Given the description of an element on the screen output the (x, y) to click on. 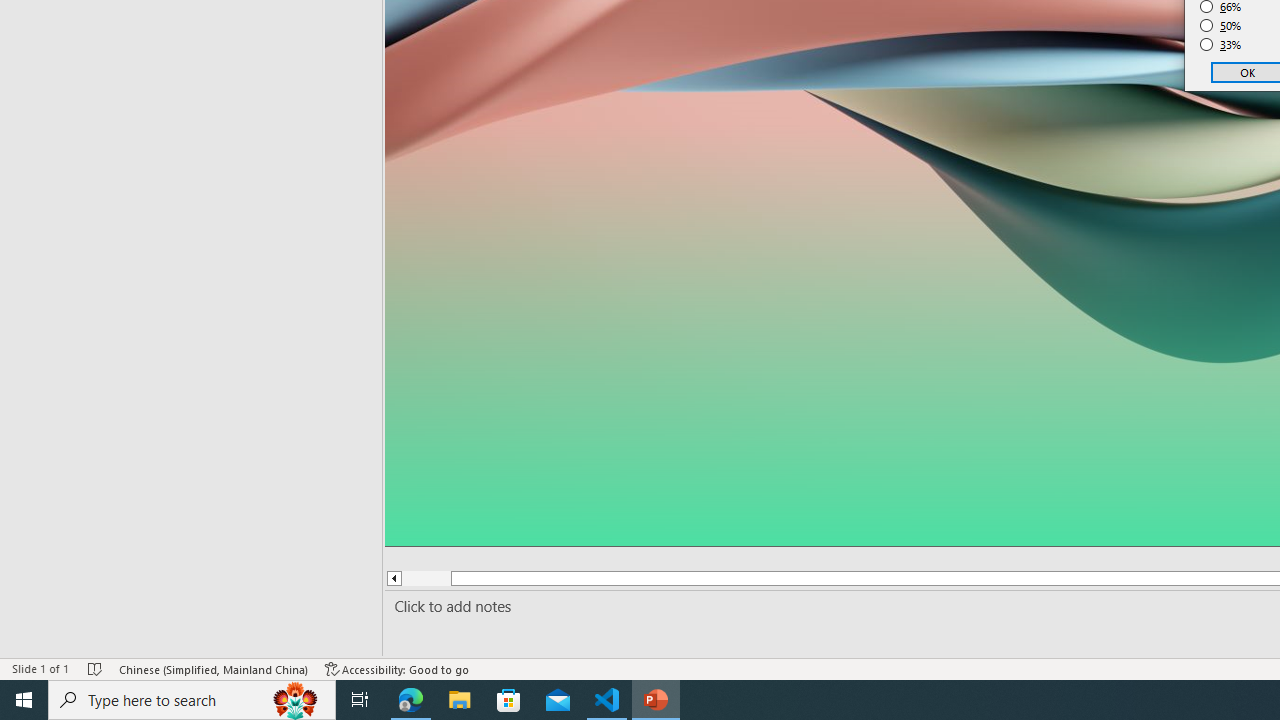
33% (1221, 44)
50% (1221, 25)
